Given the description of an element on the screen output the (x, y) to click on. 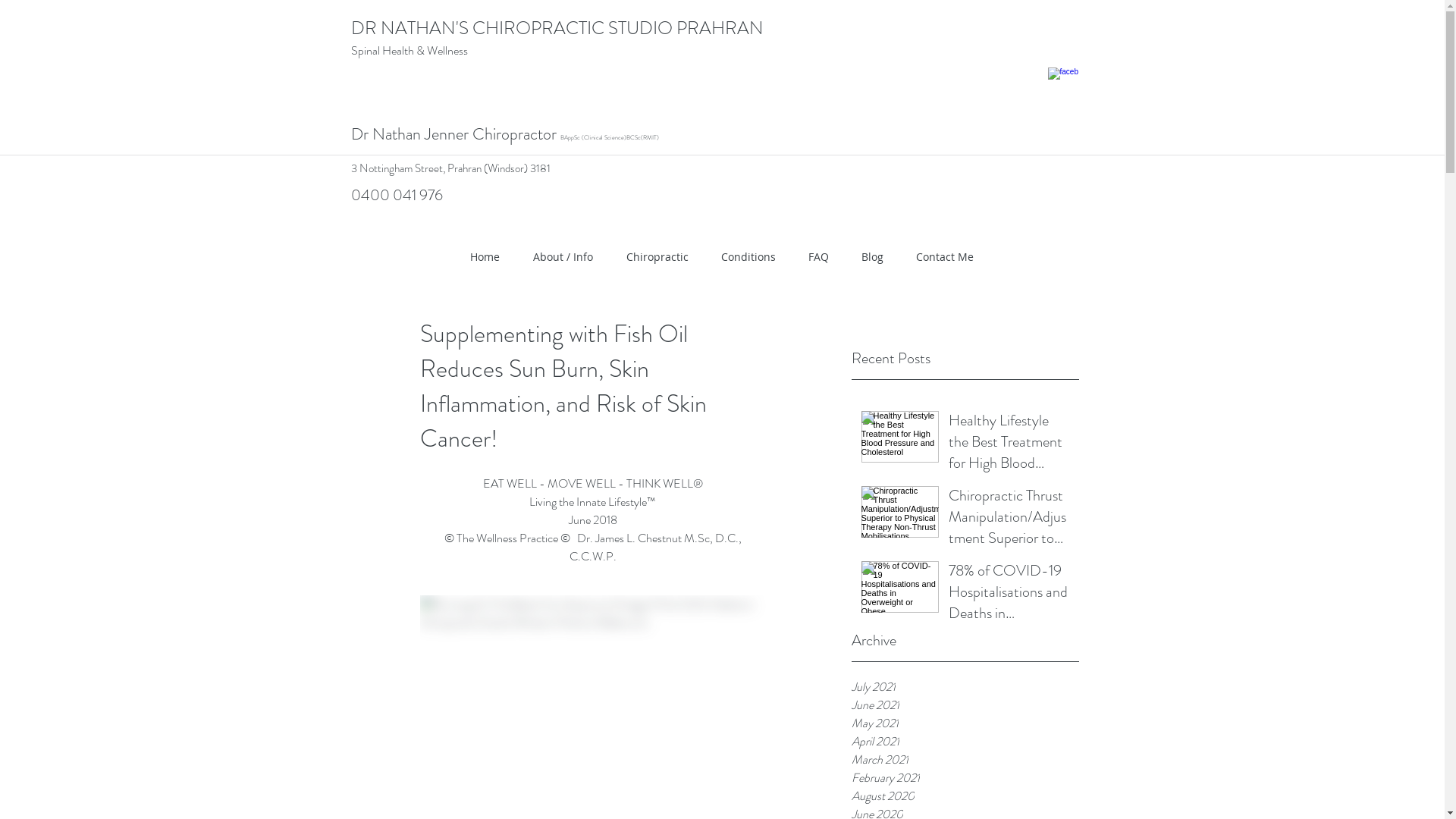
August 2020 Element type: text (964, 796)
FAQ Element type: text (817, 257)
March 2021 Element type: text (964, 759)
June 2021 Element type: text (964, 705)
May 2021 Element type: text (964, 723)
Contact Me Element type: text (944, 257)
April 2021 Element type: text (964, 741)
Blog Element type: text (871, 257)
July 2021 Element type: text (964, 686)
February 2021 Element type: text (964, 777)
Home Element type: text (484, 257)
